Given the description of an element on the screen output the (x, y) to click on. 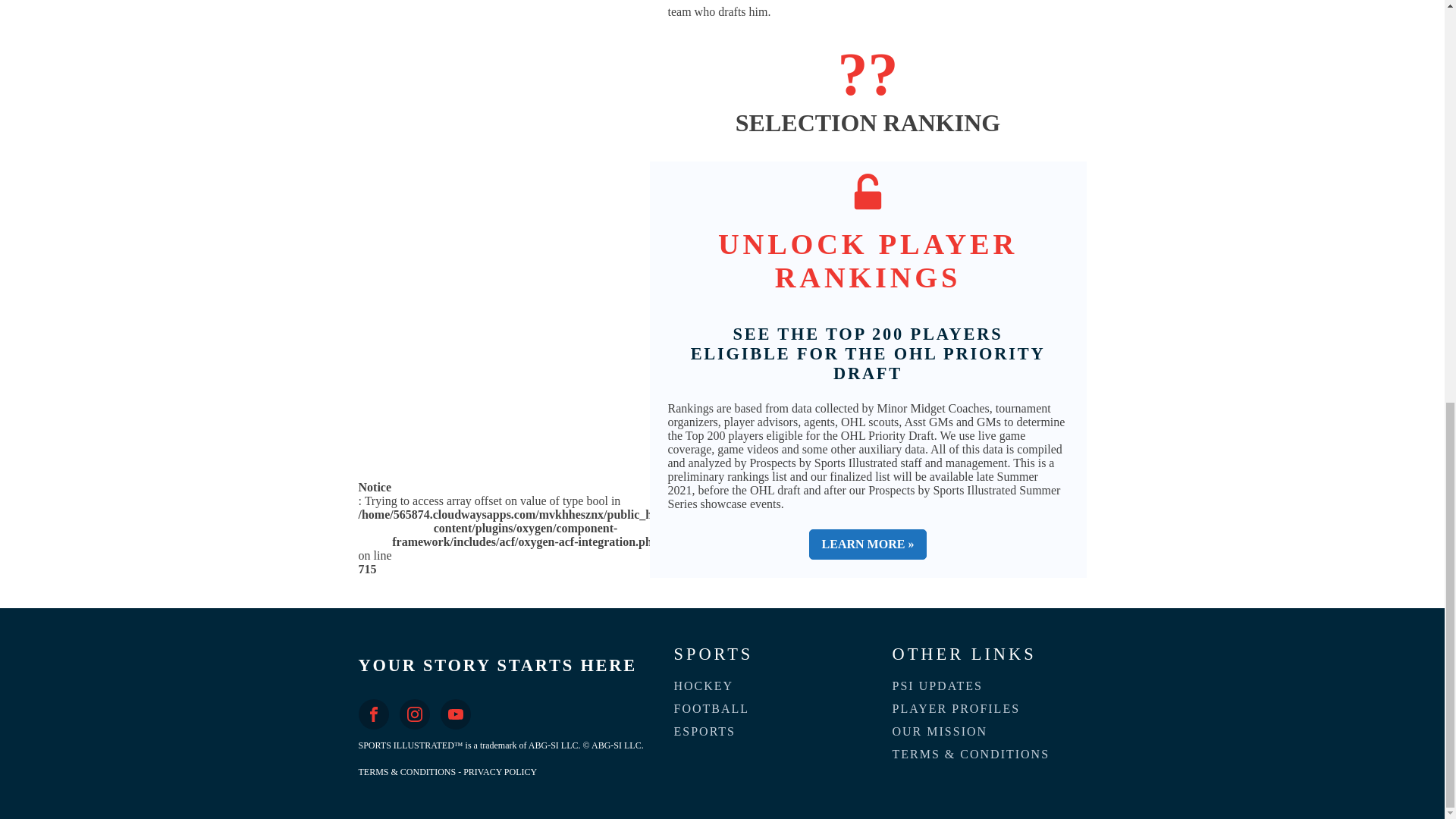
ESPORTS (705, 731)
PLAYER PROFILES (957, 709)
HOCKEY (704, 686)
FOOTBALL (712, 709)
OUR MISSION (940, 731)
PSI UPDATES (938, 686)
